Given the description of an element on the screen output the (x, y) to click on. 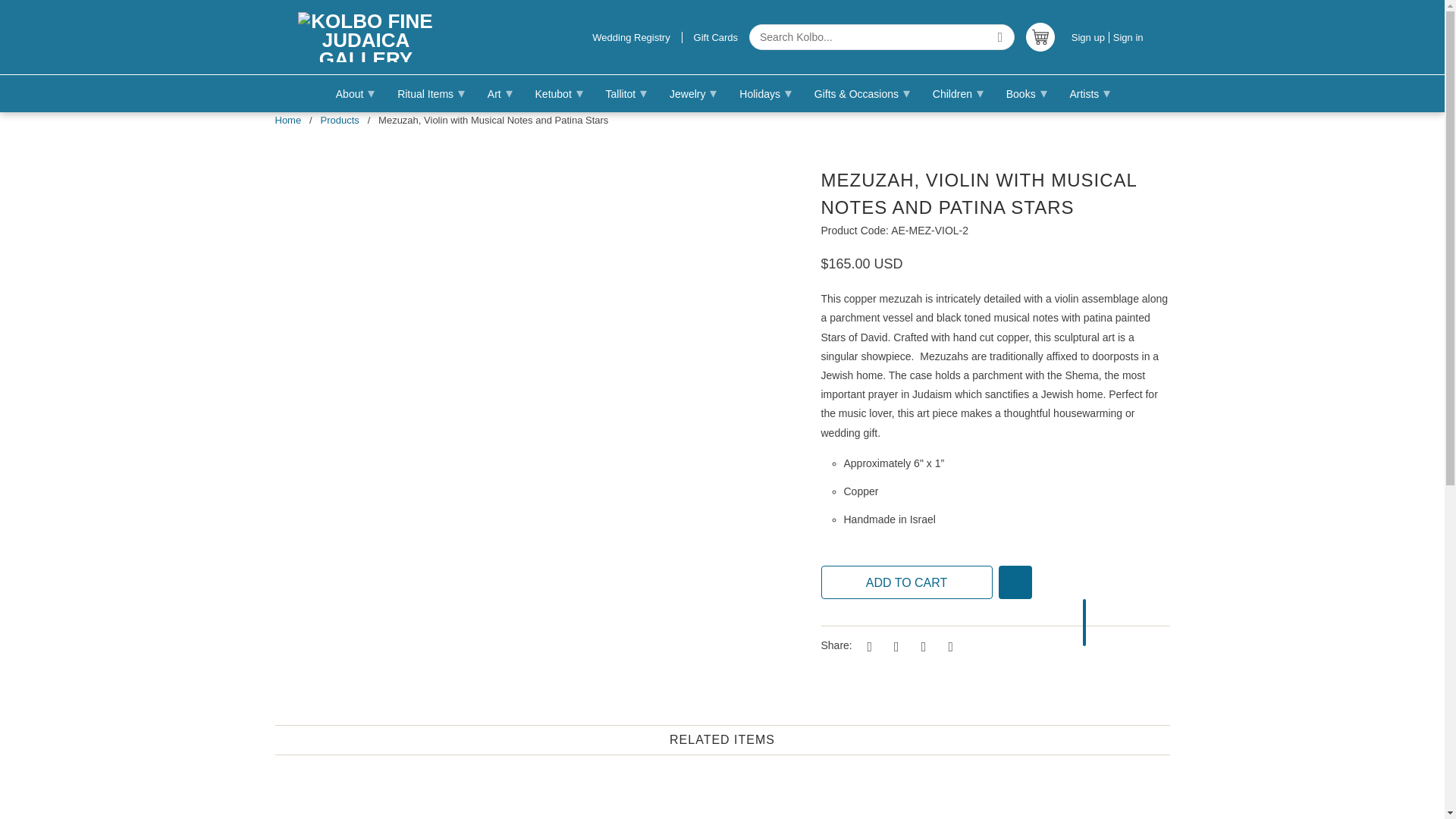
Email this to a friend (948, 645)
Share this on Twitter (867, 645)
My Account  (1090, 37)
My Account  (1128, 37)
Share this on Facebook (893, 645)
Share this on Pinterest (920, 645)
Products (339, 120)
Kolbo Fine Judaica Gallery (365, 37)
Kolbo Fine Judaica Gallery (288, 120)
